Given the description of an element on the screen output the (x, y) to click on. 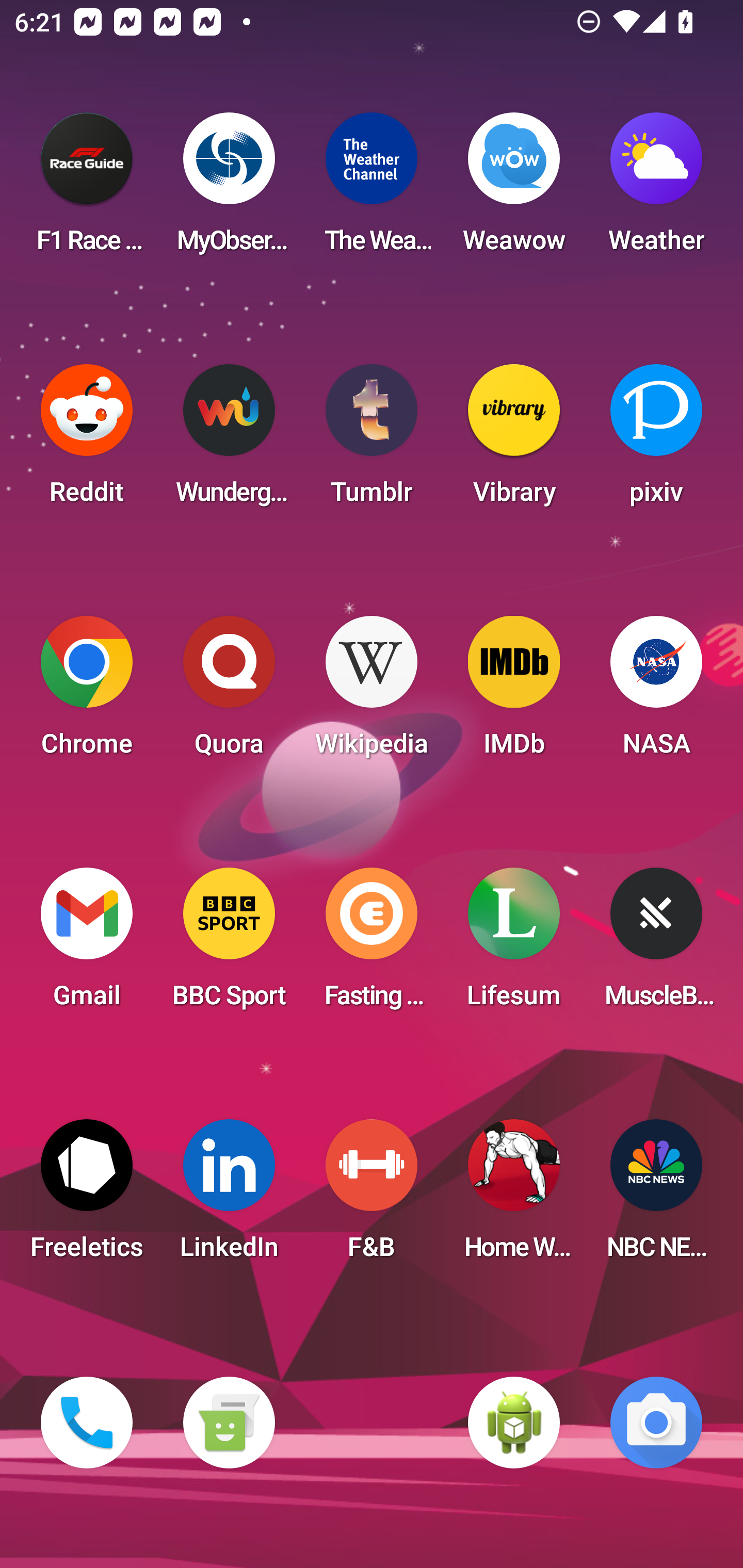
F1 Race Guide (86, 188)
MyObservatory (228, 188)
The Weather Channel (371, 188)
Weawow (513, 188)
Weather (656, 188)
Reddit (86, 440)
Wunderground (228, 440)
Tumblr (371, 440)
Vibrary (513, 440)
pixiv (656, 440)
Chrome (86, 692)
Quora (228, 692)
Wikipedia (371, 692)
IMDb (513, 692)
NASA (656, 692)
Gmail (86, 943)
BBC Sport (228, 943)
Fasting Coach (371, 943)
Lifesum (513, 943)
MuscleBooster (656, 943)
Freeletics (86, 1195)
LinkedIn (228, 1195)
F&B (371, 1195)
Home Workout (513, 1195)
NBC NEWS (656, 1195)
Phone (86, 1422)
Messaging (228, 1422)
WebView Browser Tester (513, 1422)
Camera (656, 1422)
